Given the description of an element on the screen output the (x, y) to click on. 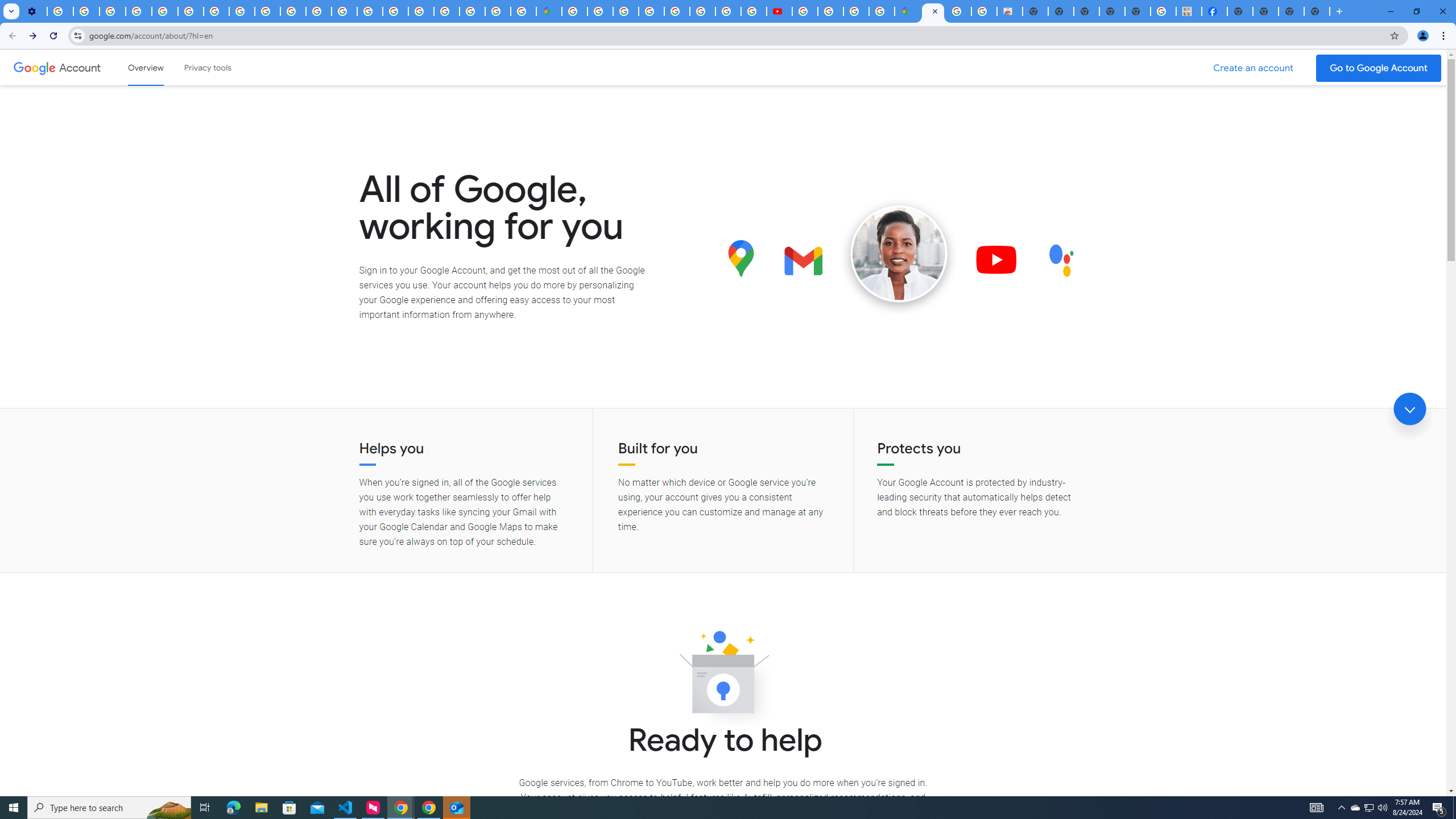
Ready to help (722, 675)
How Chrome protects your passwords - Google Chrome Help (804, 11)
Google Account (80, 67)
Privacy Help Center - Policies Help (702, 11)
New Tab (1316, 11)
